Given the description of an element on the screen output the (x, y) to click on. 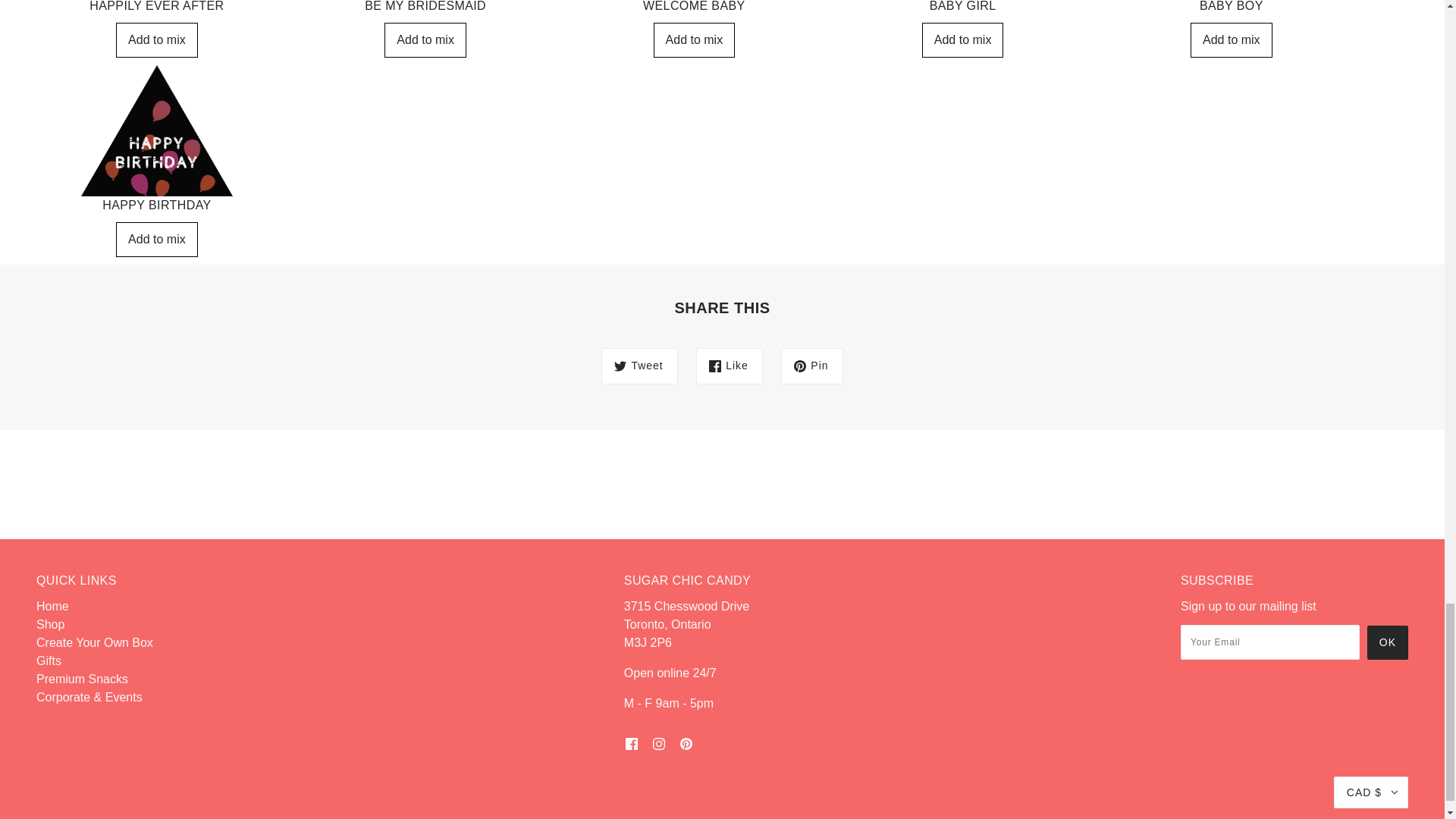
Ok (1387, 642)
